Given the description of an element on the screen output the (x, y) to click on. 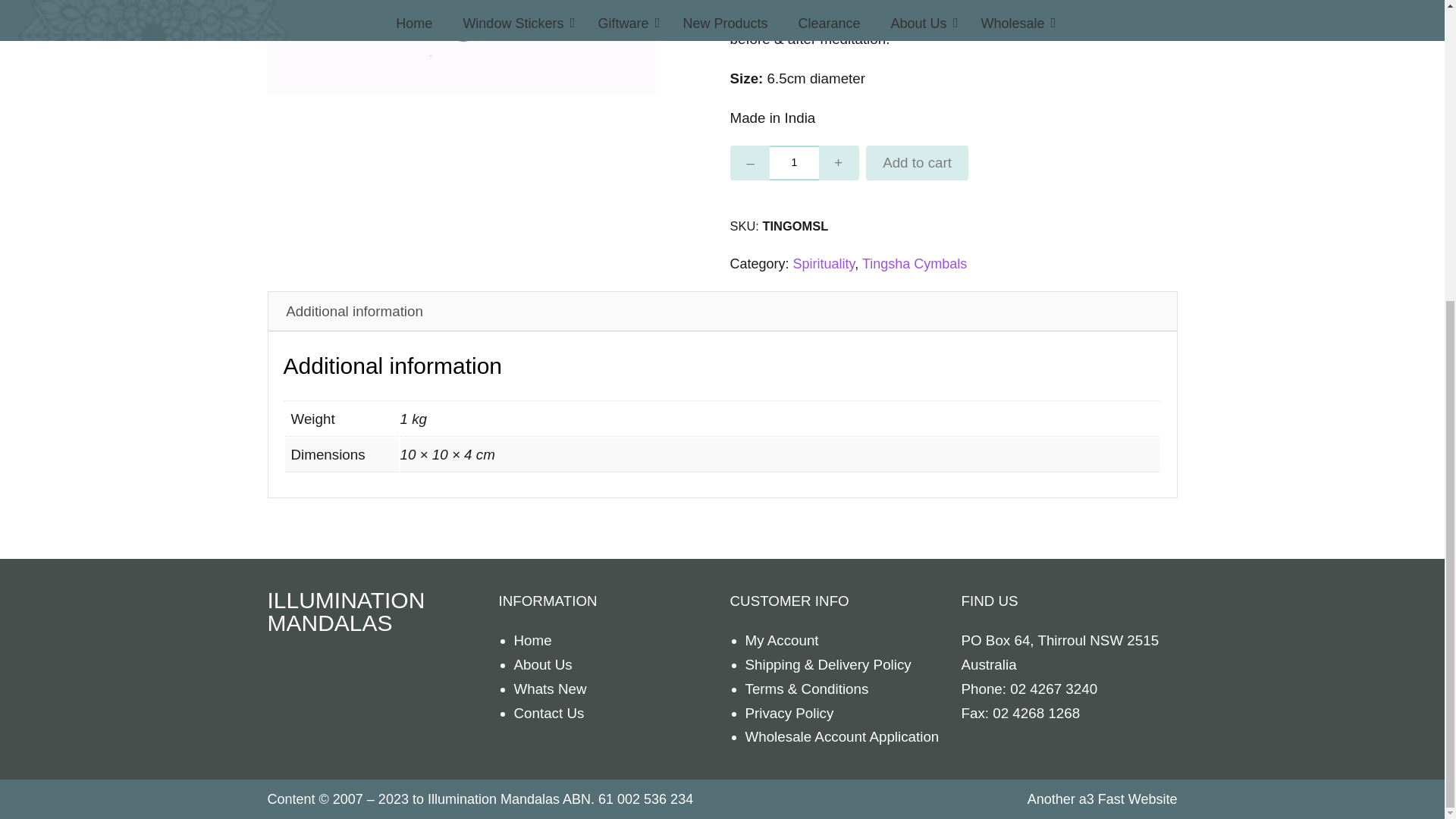
om-sound.jpg (460, 47)
1 (794, 162)
